Given the description of an element on the screen output the (x, y) to click on. 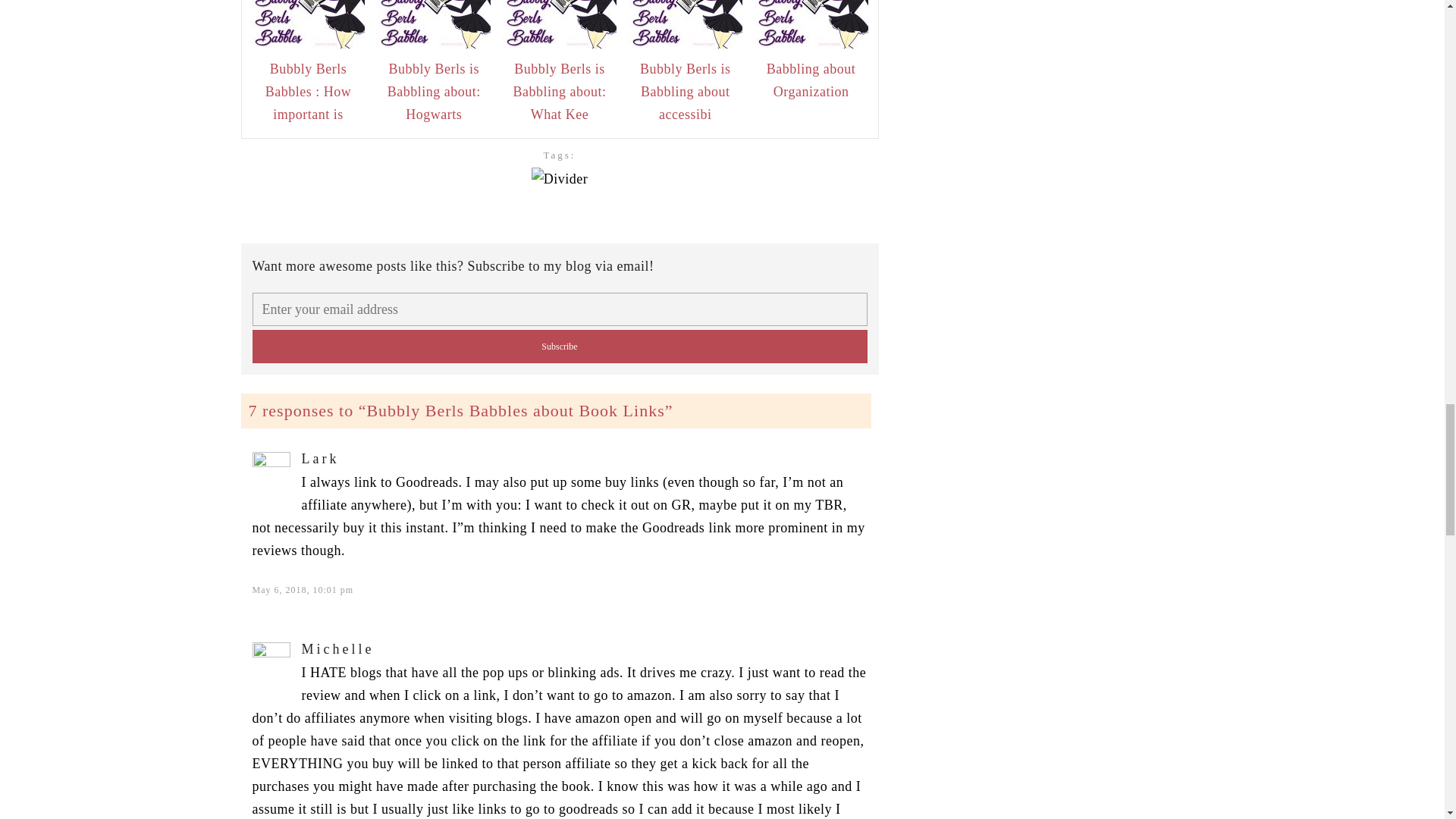
Subscribe (558, 346)
Babbling about Organization (811, 80)
Subscribe (558, 346)
Bubbly Berls Babbles : How important is (308, 91)
Bubbly Berls is Babbling about accessibi (685, 91)
Bubbly Berls is Babbling about: What Kee (559, 91)
Bubbly Berls is Babbling about: Hogwarts (433, 91)
